Given the description of an element on the screen output the (x, y) to click on. 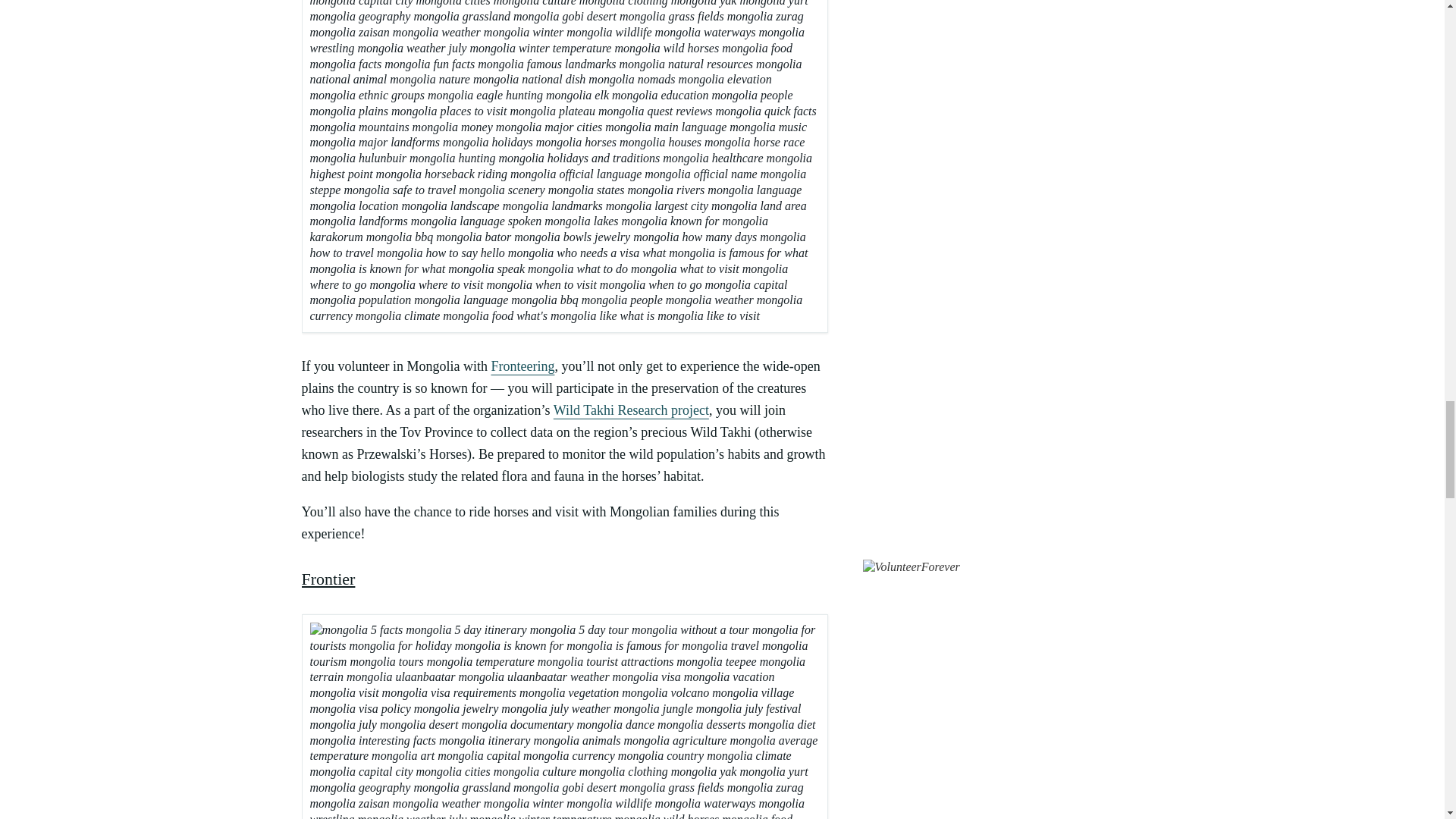
GoEco Banner - Wildlife Volunteering 300x250 (911, 567)
frontier-mongolia (564, 716)
